Given the description of an element on the screen output the (x, y) to click on. 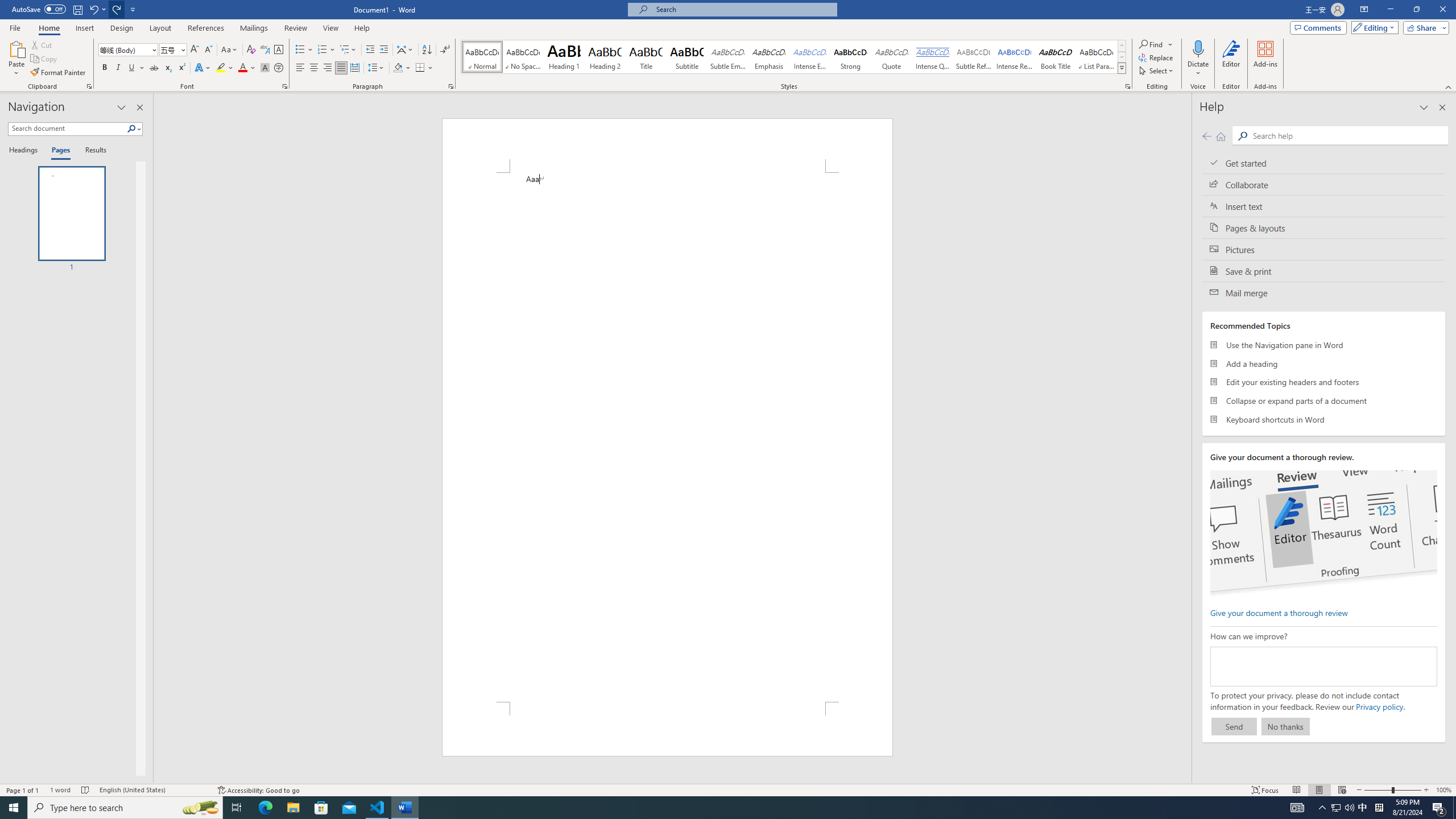
Results (91, 150)
Heading 2 (605, 56)
Focus  (1265, 790)
How can we improve? (1323, 666)
Insert (83, 28)
Editor (1231, 58)
Borders (419, 67)
Mailings (253, 28)
Collaborate (1323, 184)
Design (122, 28)
Page Number Page 1 of 1 (22, 790)
Shrink Font (208, 49)
Home (1220, 136)
Comments (1318, 27)
